Given the description of an element on the screen output the (x, y) to click on. 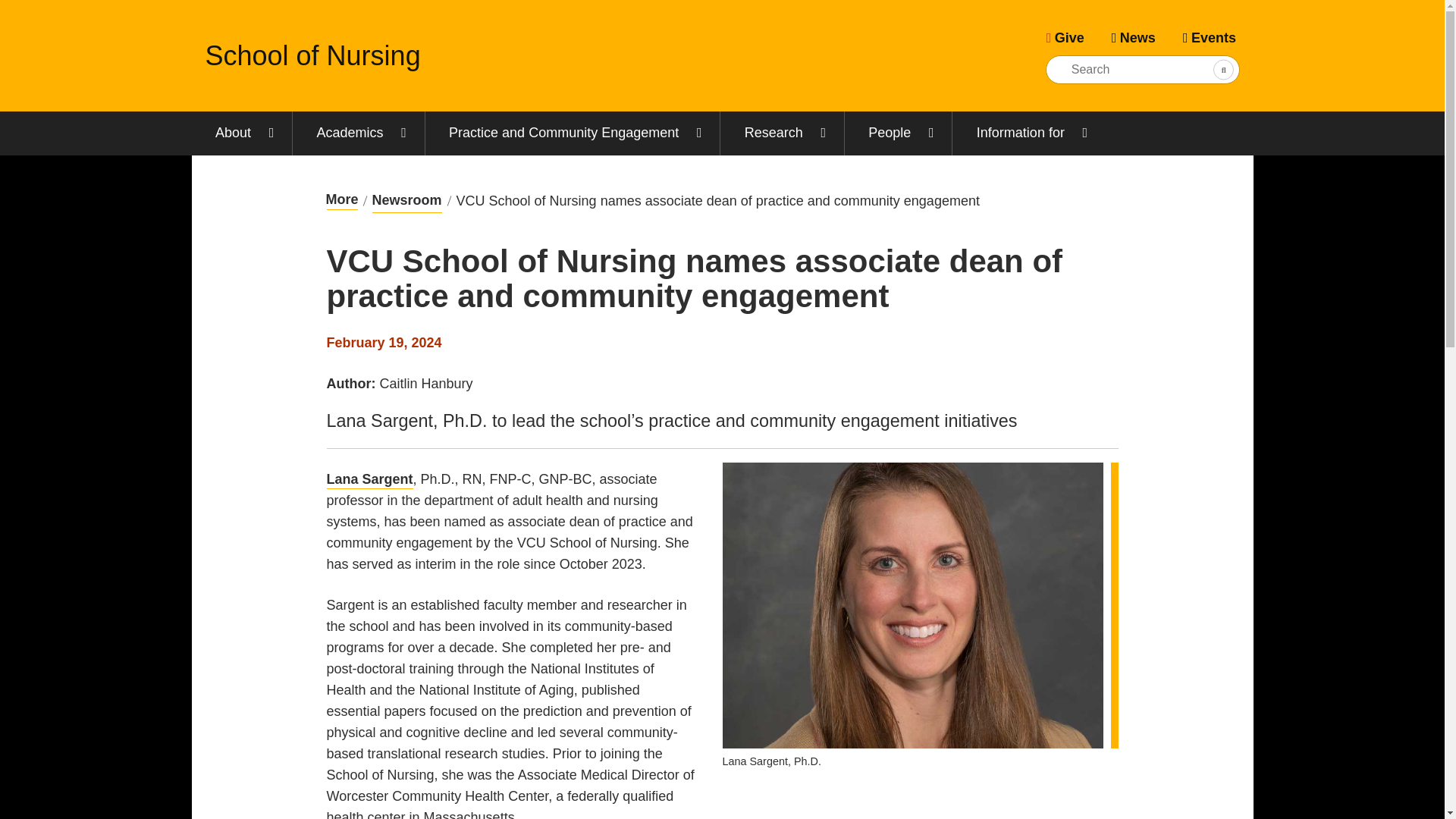
Events (1209, 37)
About (241, 133)
School of Nursing (312, 55)
News (1133, 37)
Academics (358, 133)
Give (1064, 37)
